Given the description of an element on the screen output the (x, y) to click on. 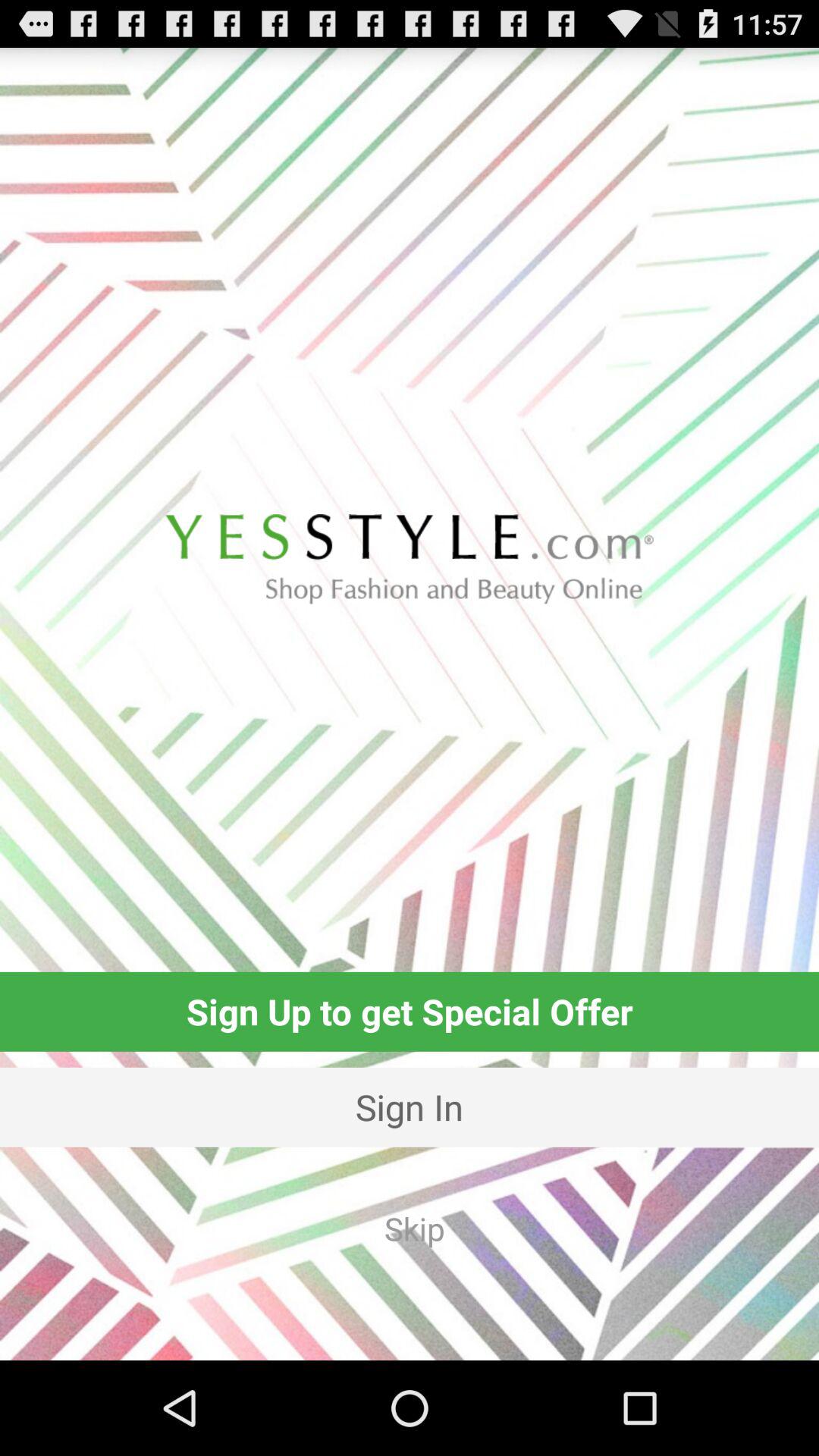
tap skip app (414, 1228)
